Given the description of an element on the screen output the (x, y) to click on. 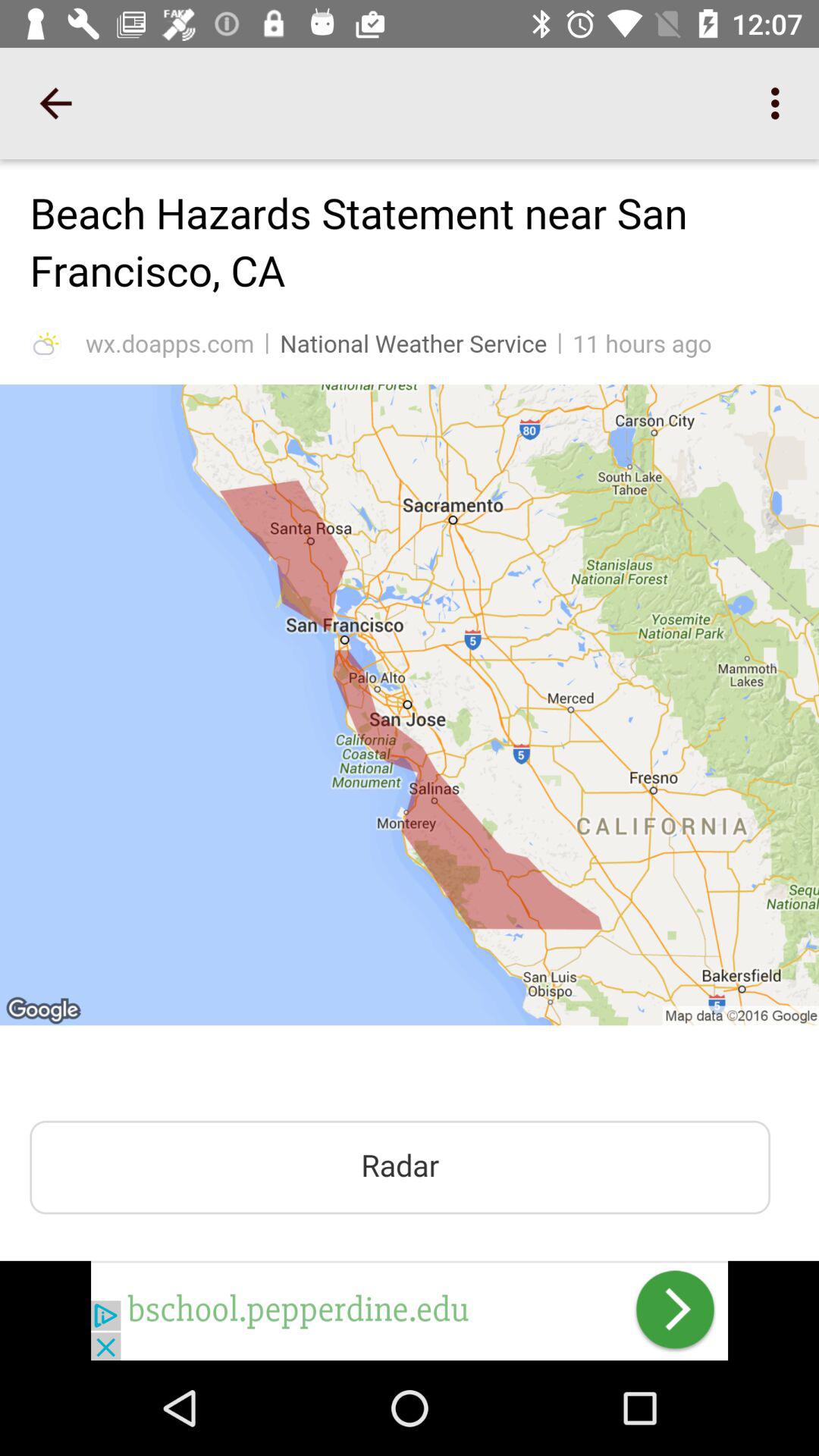
click on advertisement (409, 1310)
